Given the description of an element on the screen output the (x, y) to click on. 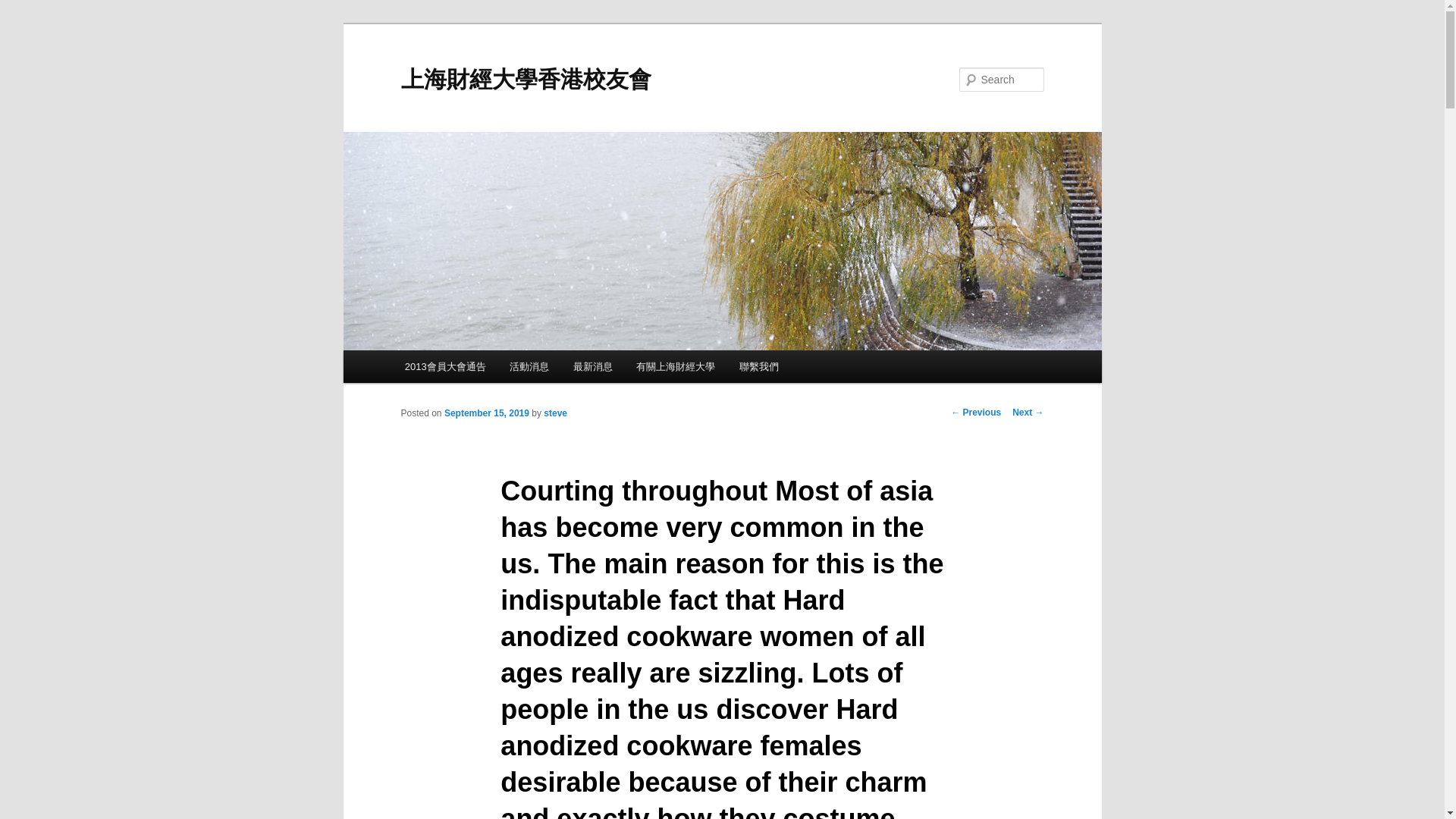
steve (555, 412)
View all posts by steve (555, 412)
September 15, 2019 (486, 412)
8:00 am (486, 412)
Search (24, 8)
